Given the description of an element on the screen output the (x, y) to click on. 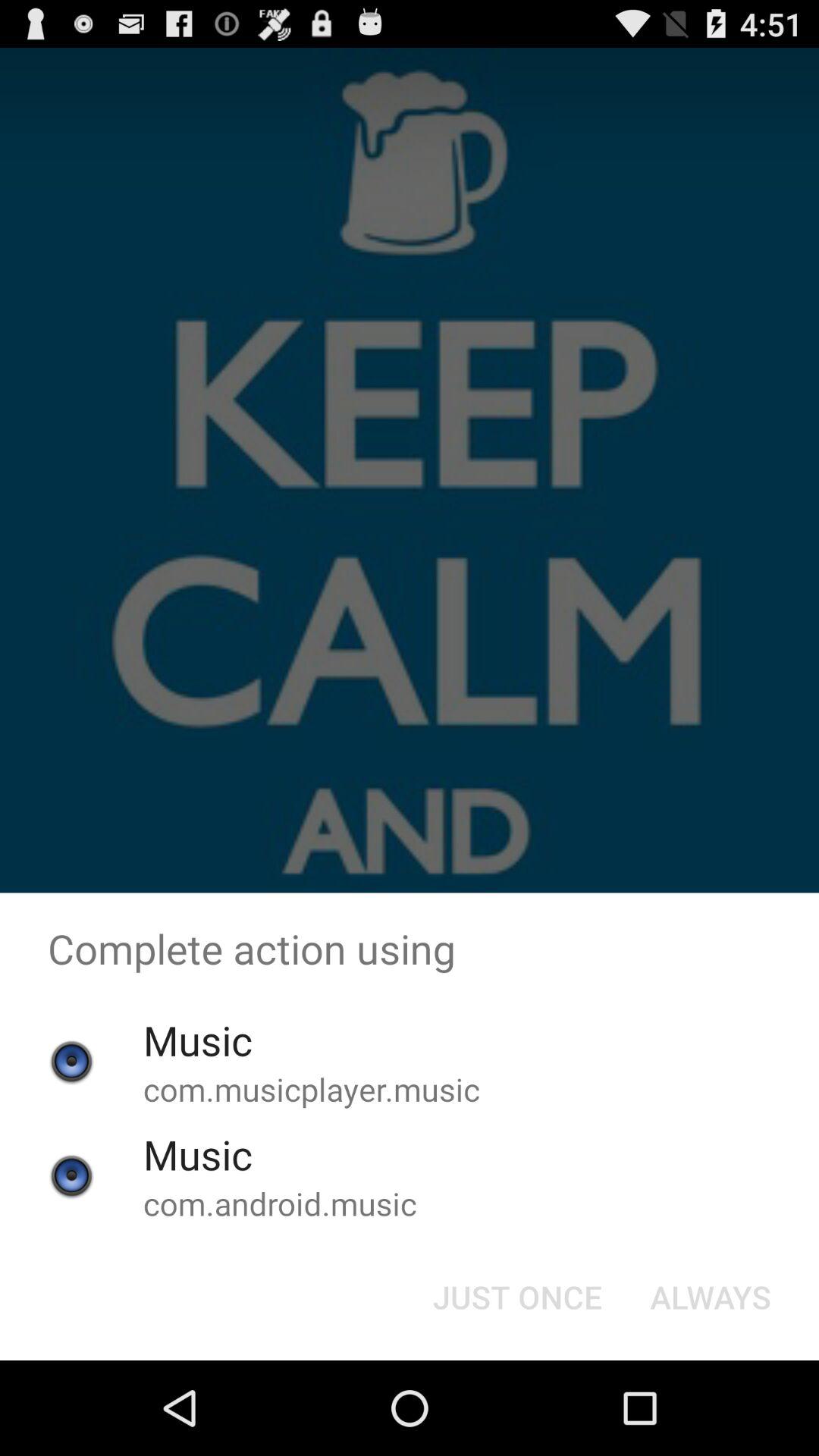
launch the app below com.android.music item (517, 1296)
